Given the description of an element on the screen output the (x, y) to click on. 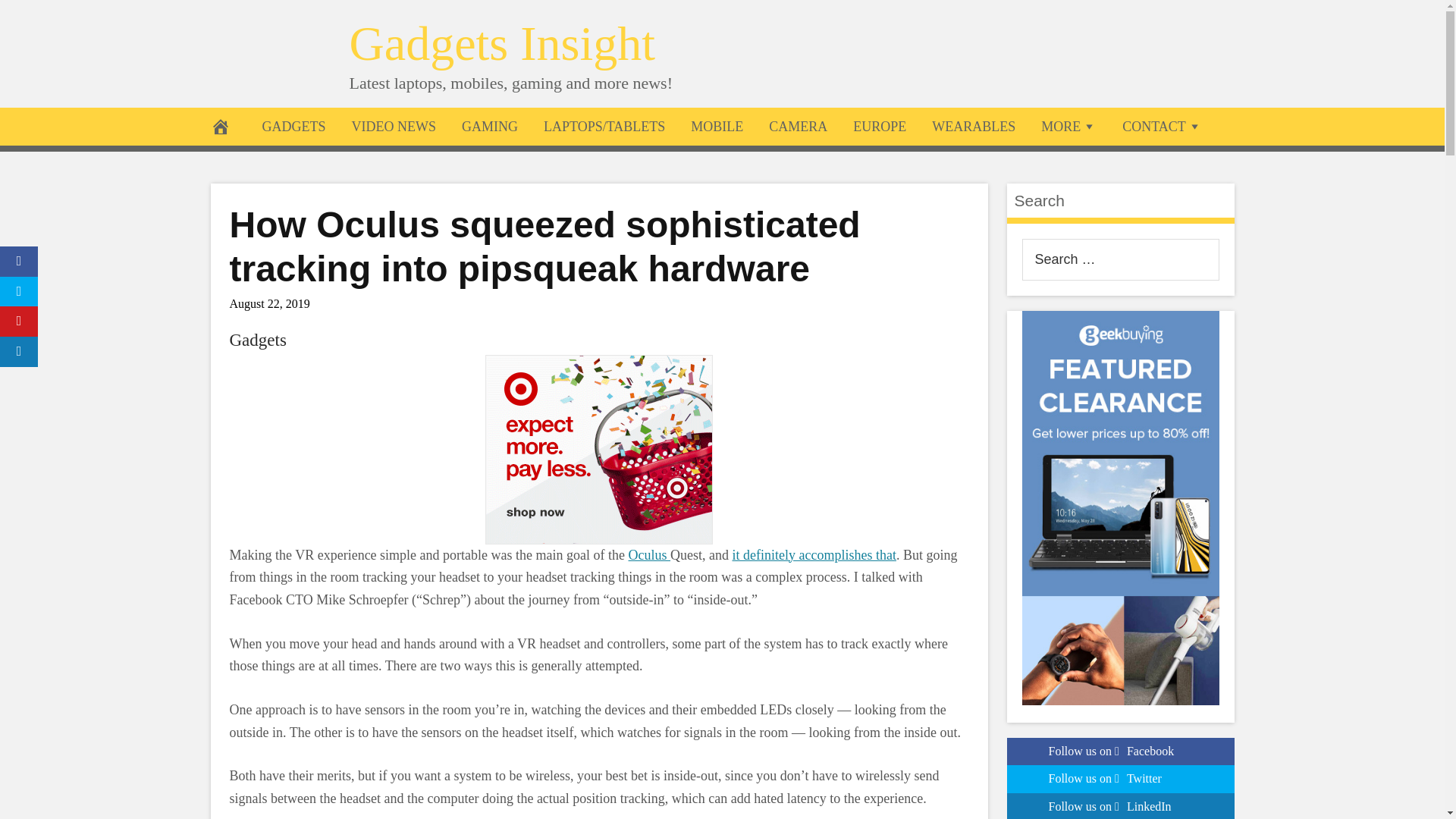
CAMERA (797, 126)
GADGETS (292, 126)
Gadgets Insight (502, 43)
GAMING (489, 126)
MOBILE (716, 126)
EUROPE (879, 126)
WEARABLES (972, 126)
VIDEO NEWS (392, 126)
